Given the description of an element on the screen output the (x, y) to click on. 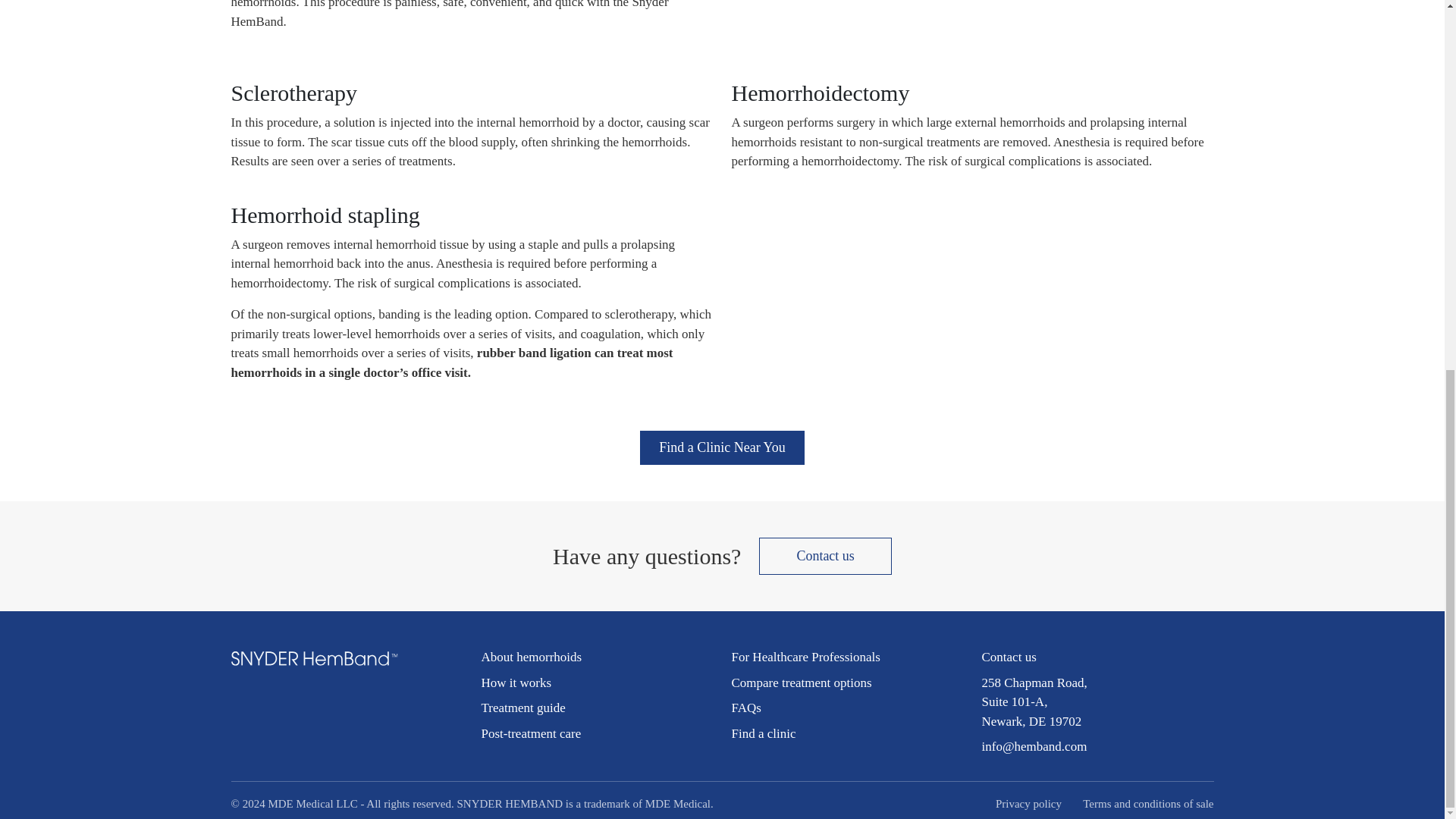
Post-treatment care (530, 733)
Contact us (824, 555)
How it works (515, 682)
For Healthcare Professionals (804, 657)
Contact us (1008, 657)
Find a clinic (762, 733)
FAQs (745, 707)
About hemorrhoids (530, 657)
Terms and conditions of sale (1147, 803)
Treatment guide (522, 707)
